Given the description of an element on the screen output the (x, y) to click on. 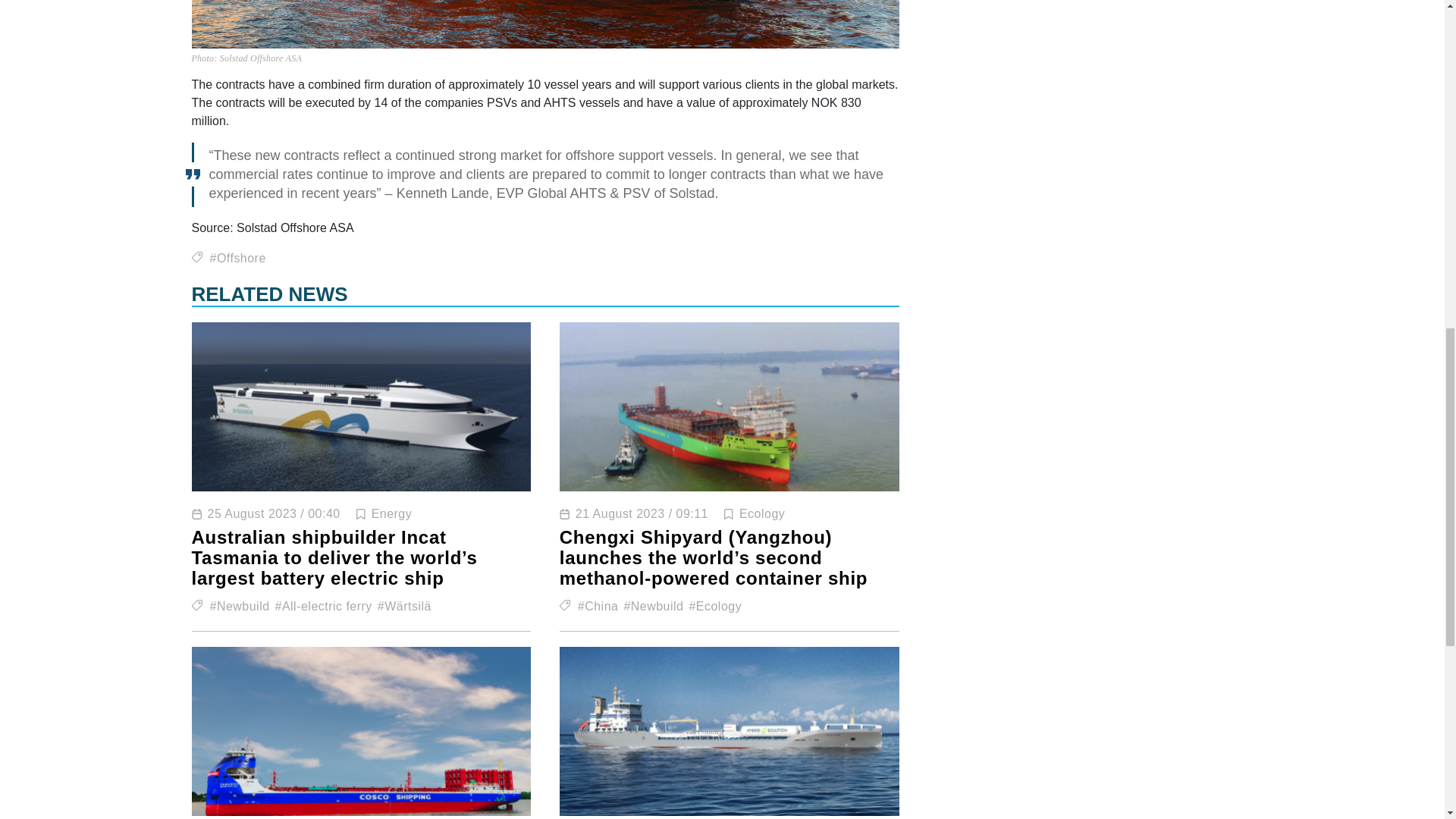
Ecology (761, 513)
Offshore (236, 257)
All-electric ferry (323, 605)
Energy (391, 513)
Ecology (714, 605)
Newbuild (652, 605)
China (598, 605)
Newbuild (239, 605)
